Given the description of an element on the screen output the (x, y) to click on. 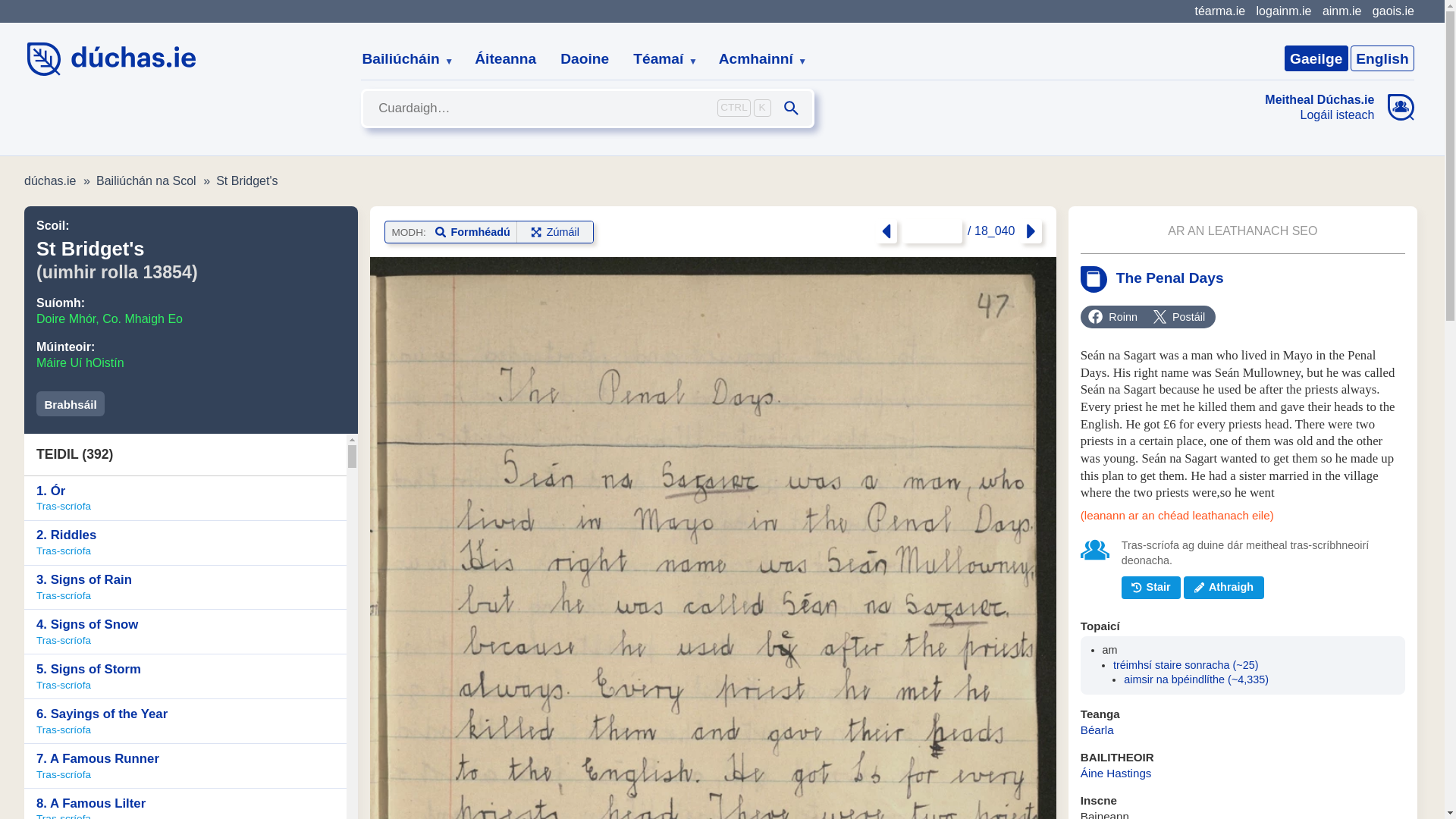
Daoine (584, 58)
logainm.ie (1283, 11)
gaois.ie (1393, 11)
St Bridget's (246, 180)
ainm.ie (1341, 11)
Gaeilge (1316, 58)
English (1382, 58)
